Given the description of an element on the screen output the (x, y) to click on. 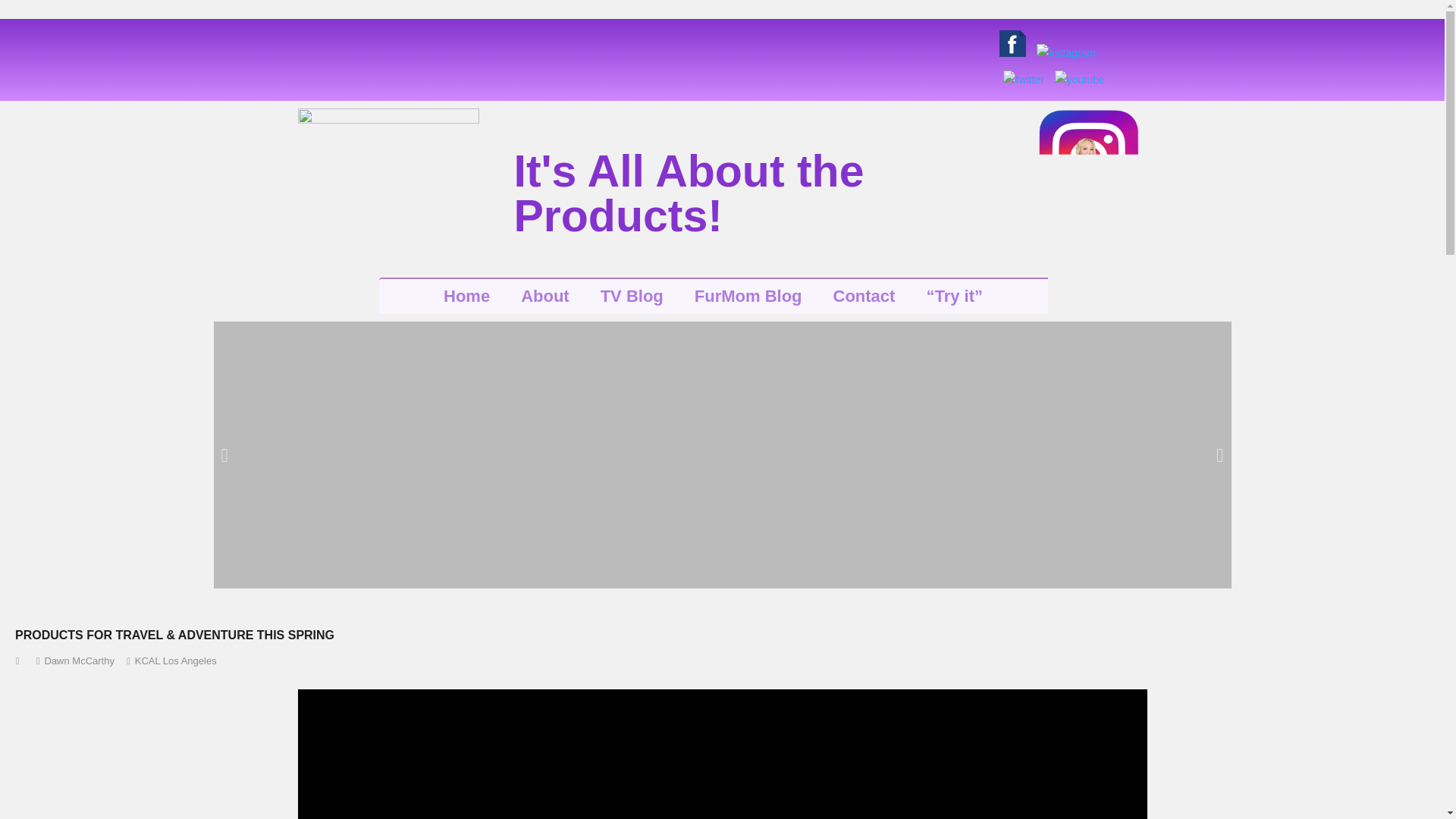
KCAL Los Angeles (175, 660)
View all posts by Dawn McCarthy (78, 660)
vimeo Video Player (722, 754)
TV Blog (631, 296)
About (544, 296)
Contact (863, 296)
Dawn McCarthy (78, 660)
FurMom Blog (748, 296)
Home (466, 296)
